Given the description of an element on the screen output the (x, y) to click on. 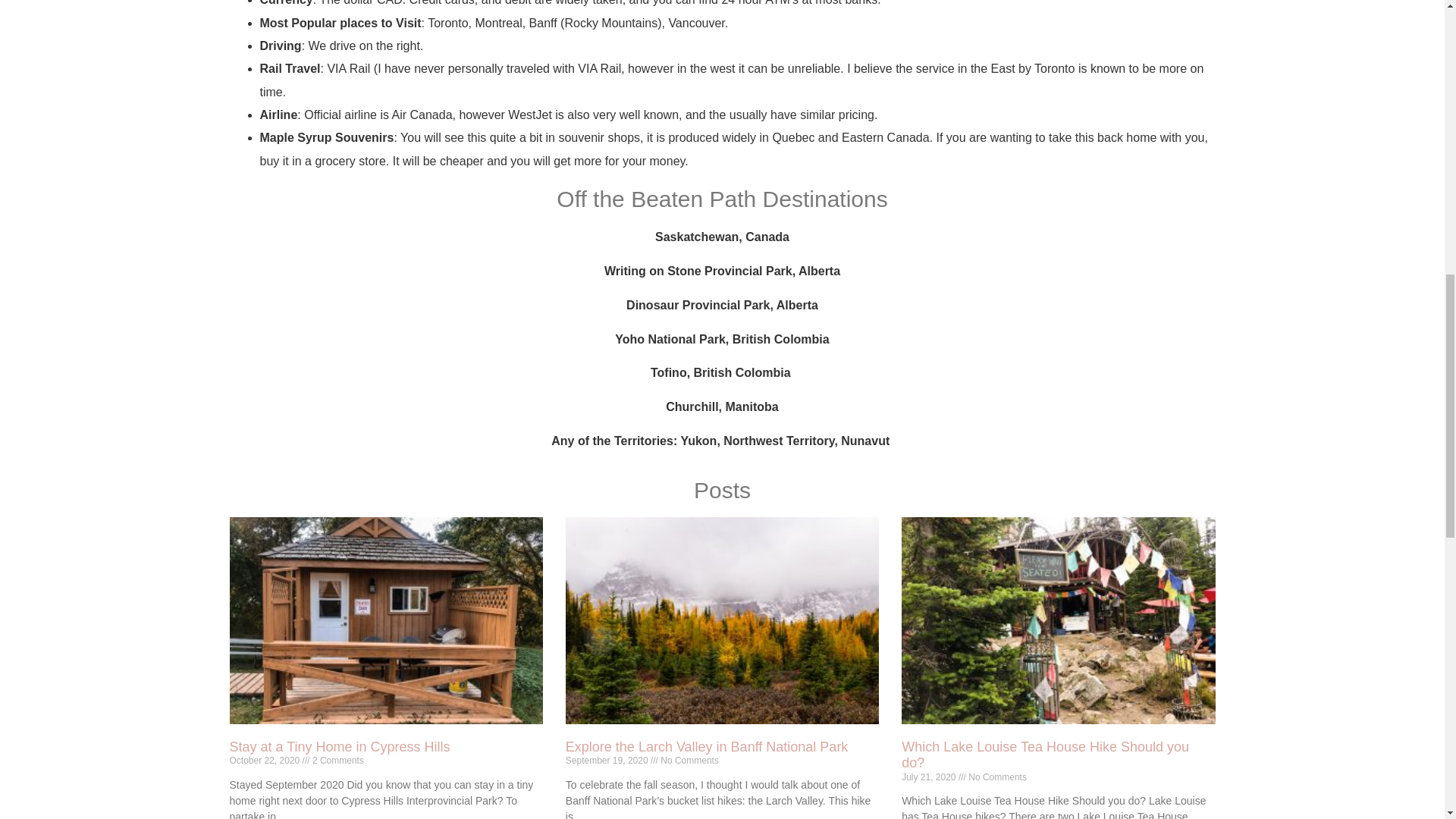
Which Lake Louise Tea House Hike Should you do? (1045, 755)
Stay at a Tiny Home in Cypress Hills (338, 745)
Explore the Larch Valley in Banff National Park (707, 745)
